Given the description of an element on the screen output the (x, y) to click on. 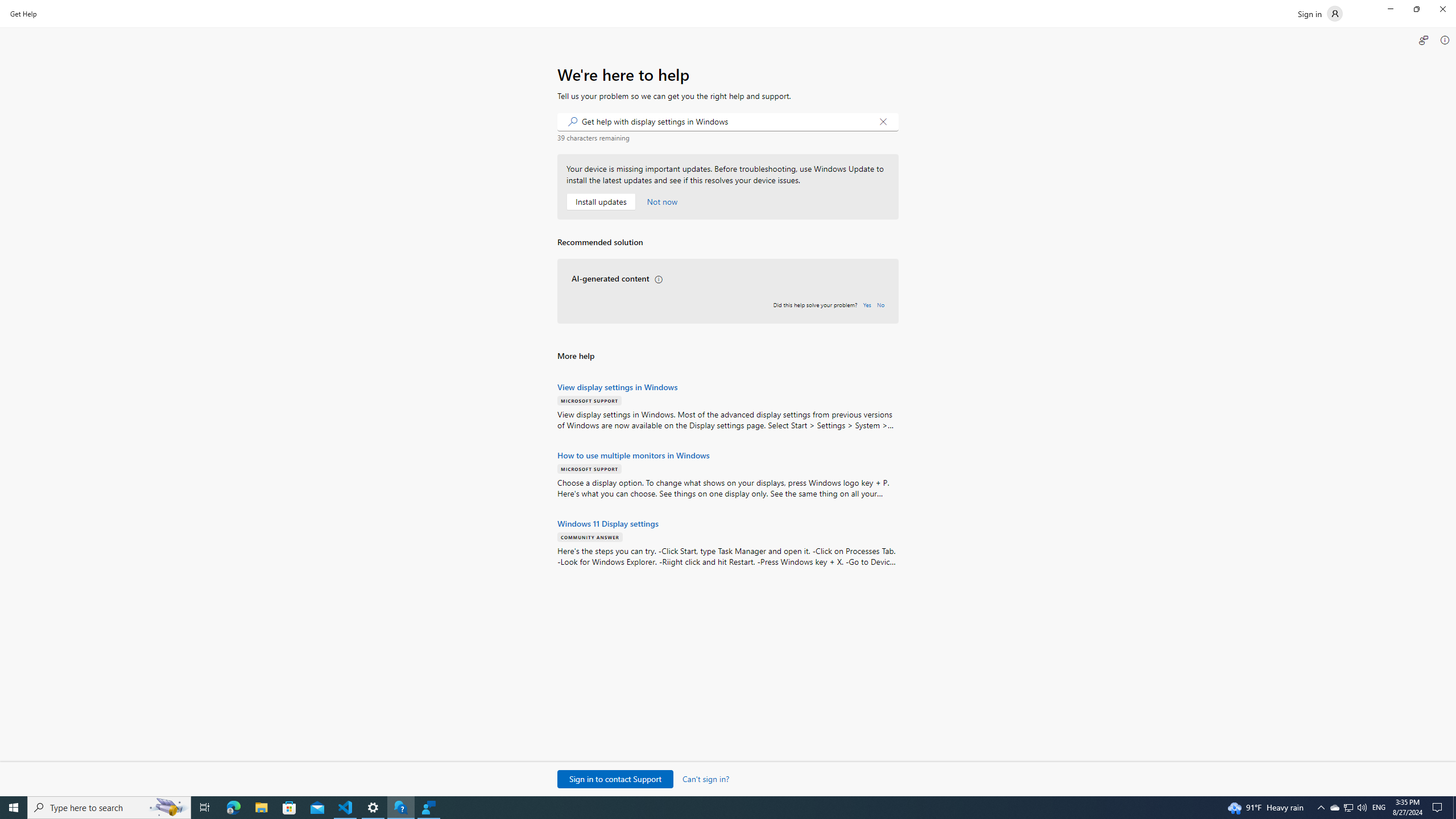
System (6, 6)
System (6, 6)
Feedback Hub - 1 running window (428, 807)
